Given the description of an element on the screen output the (x, y) to click on. 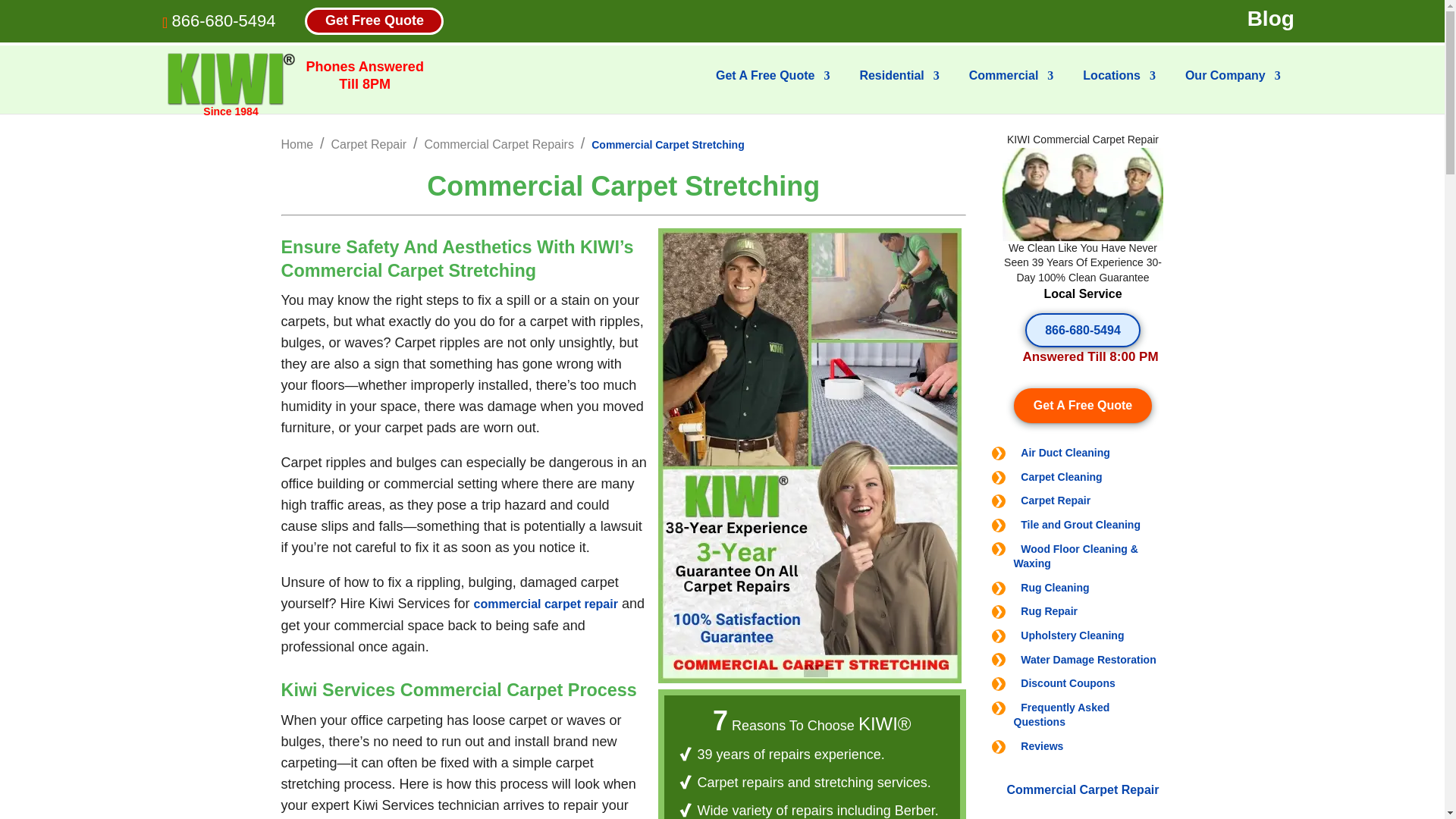
866-680-5494 (223, 20)
KIWI Cleaning Services (230, 79)
Residential (899, 88)
Since 1984 (230, 79)
Get Free Quote (373, 20)
Blog (1270, 18)
Get A Free Quote (772, 88)
